Given the description of an element on the screen output the (x, y) to click on. 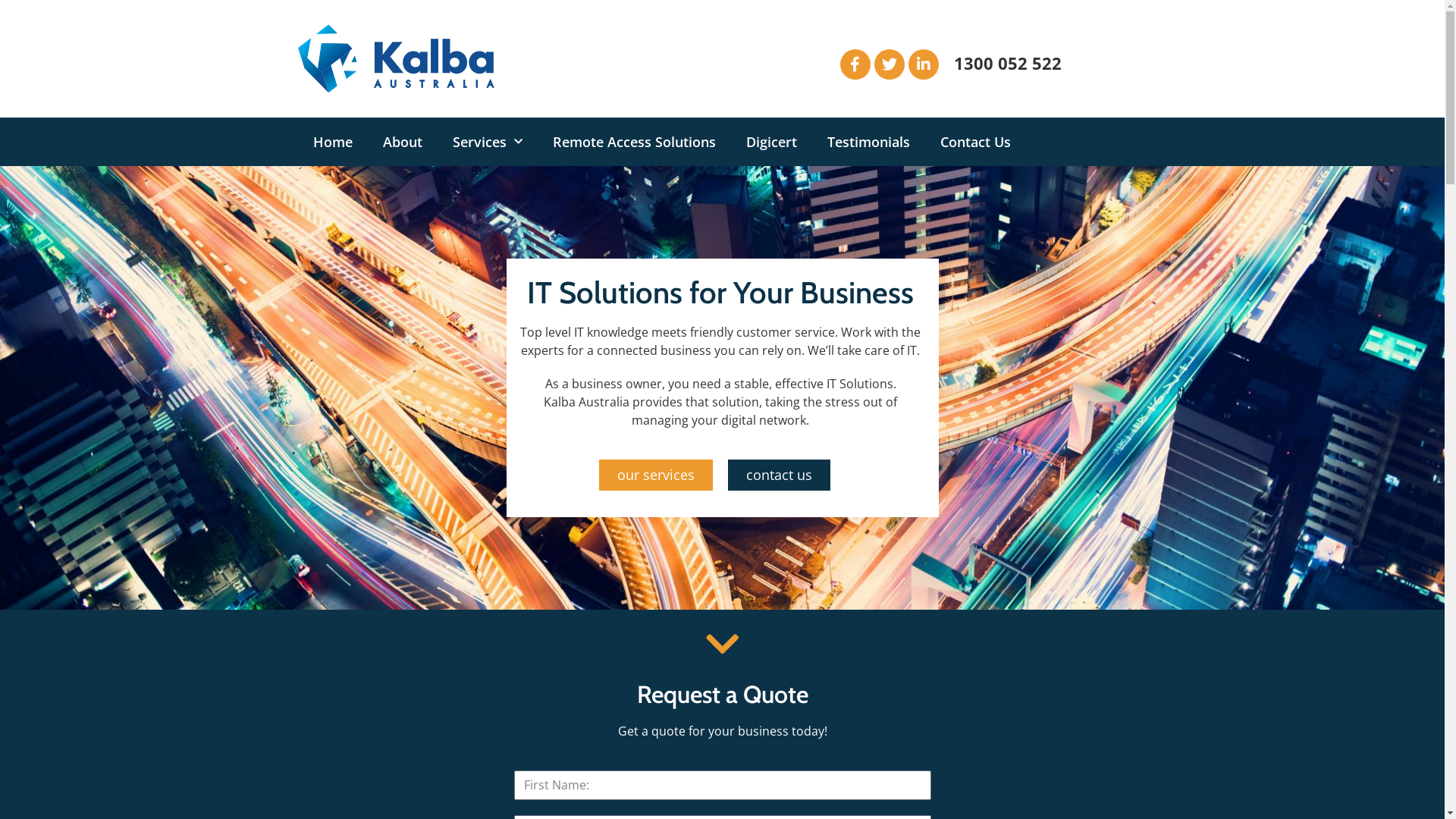
Home Element type: text (332, 141)
Contact Us Element type: text (975, 141)
Remote Access Solutions Element type: text (633, 141)
Testimonials Element type: text (867, 141)
1300 052 522 Element type: text (1007, 62)
contact us Element type: text (779, 475)
our services Element type: text (655, 475)
Services Element type: text (486, 141)
Digicert Element type: text (771, 141)
About Element type: text (401, 141)
